Given the description of an element on the screen output the (x, y) to click on. 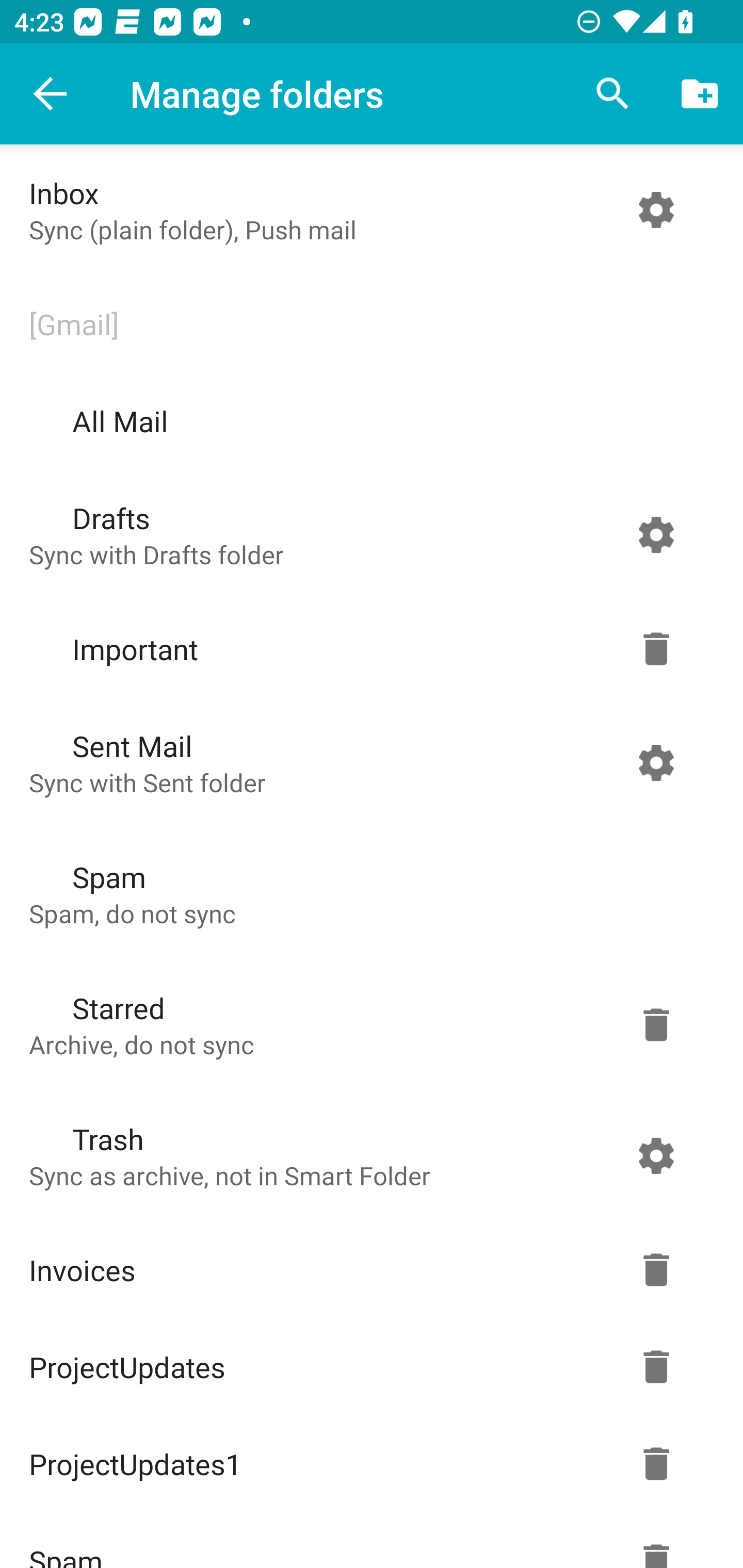
Navigate up (50, 93)
Search folders (612, 93)
Create folder (699, 93)
Folder settings (655, 209)
All Mail (367, 420)
Drafts Sync with Drafts folder Folder settings (367, 534)
Folder settings (655, 534)
Important Folder settings (367, 648)
Folder settings (655, 648)
Sent Mail Sync with Sent folder Folder settings (367, 762)
Folder settings (655, 762)
Spam Spam, do not sync (367, 893)
Starred Archive, do not sync Folder settings (367, 1024)
Folder settings (655, 1024)
Folder settings (655, 1155)
Invoices Folder settings (367, 1269)
Folder settings (655, 1269)
ProjectUpdates Folder settings (367, 1366)
Folder settings (655, 1366)
ProjectUpdates1 Folder settings (367, 1463)
Folder settings (655, 1463)
